Given the description of an element on the screen output the (x, y) to click on. 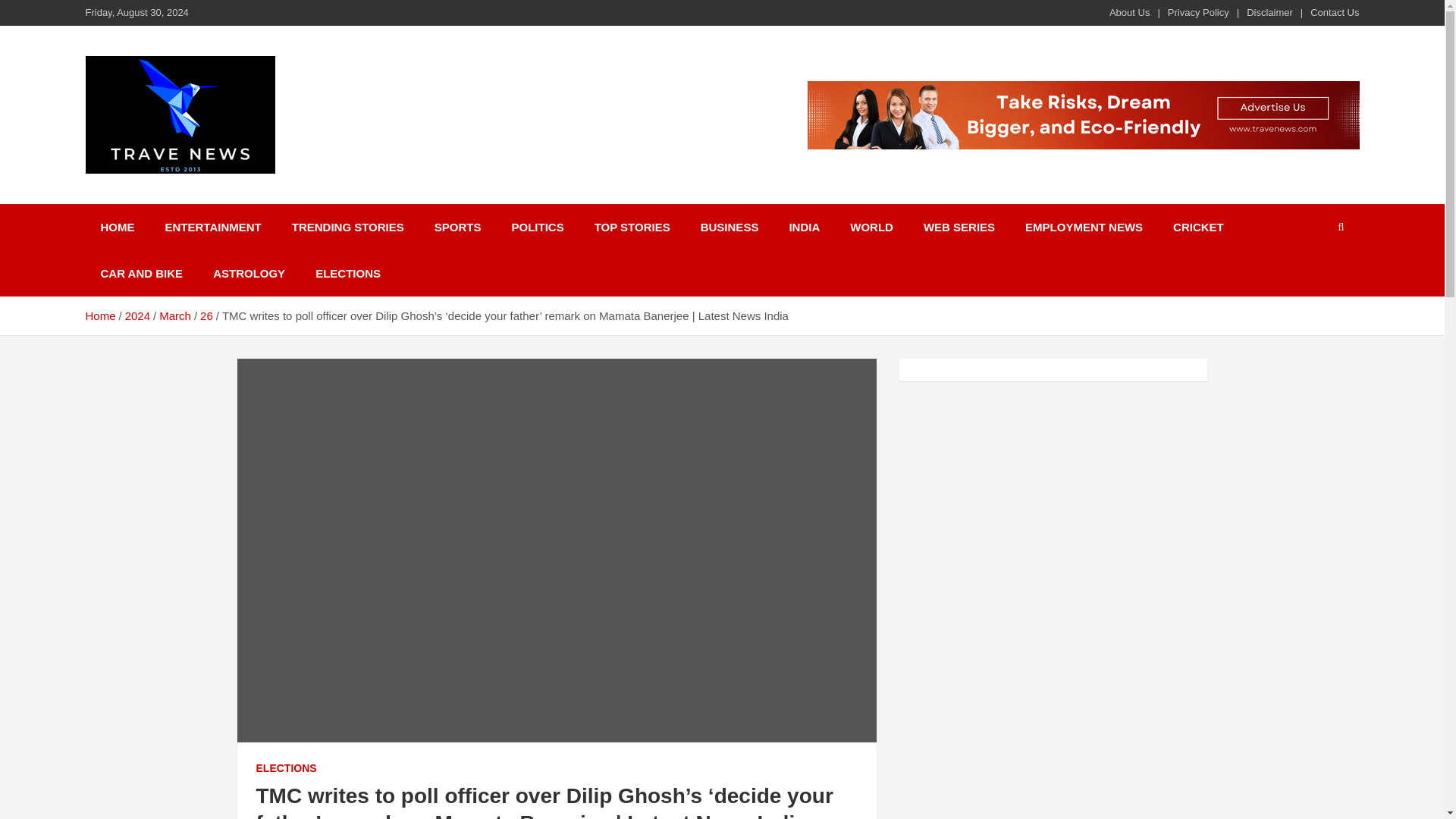
ENTERTAINMENT (212, 226)
March (174, 315)
INDIA (803, 226)
TOP STORIES (632, 226)
POLITICS (537, 226)
ELECTIONS (286, 768)
Privacy Policy (1197, 12)
ELECTIONS (347, 273)
26 (206, 315)
WEB SERIES (959, 226)
